Given the description of an element on the screen output the (x, y) to click on. 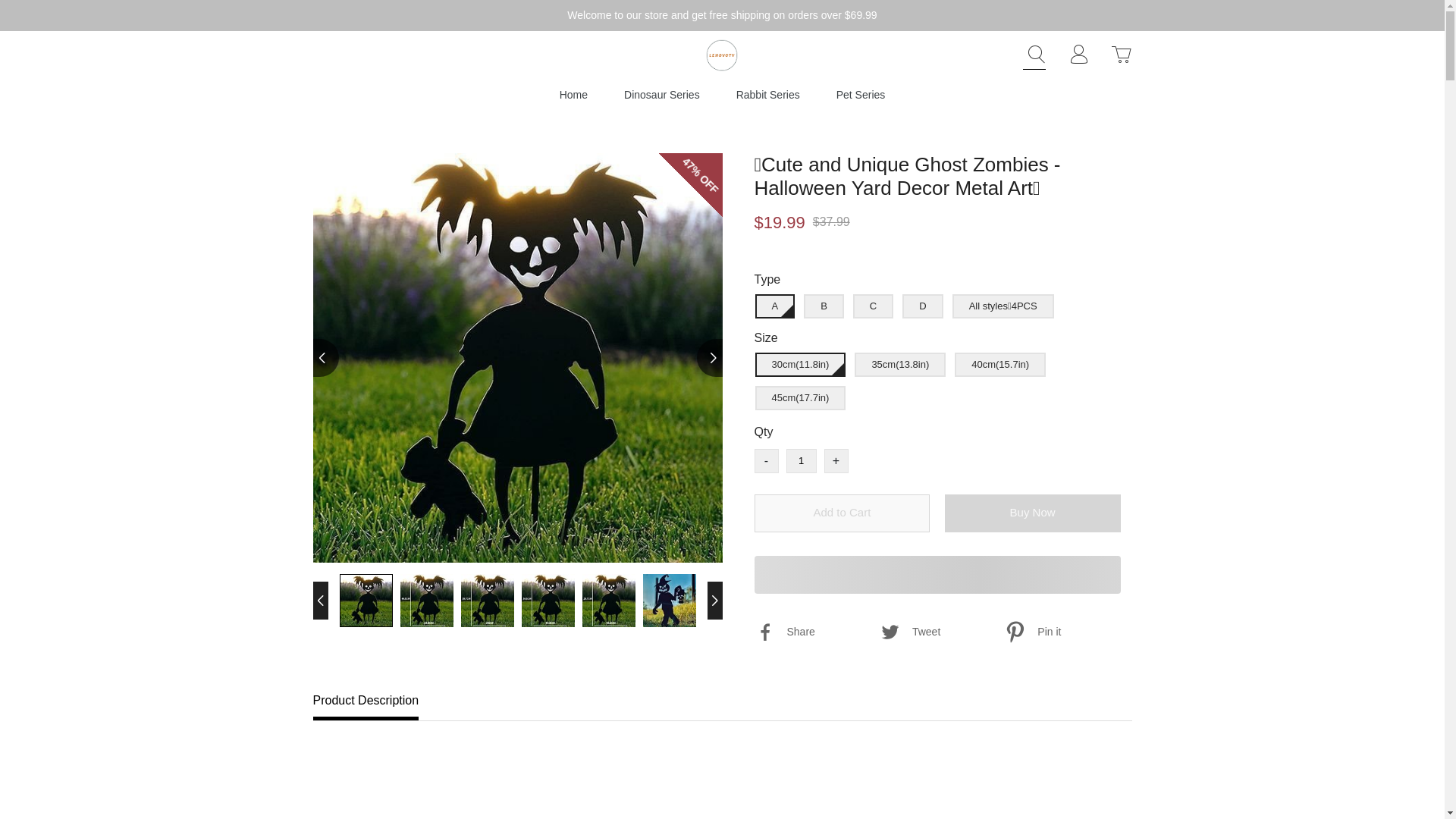
Tweet (940, 632)
- (765, 460)
Pet Series (860, 94)
Add to Cart (842, 513)
1 (800, 460)
Rabbit Series (767, 94)
Home (573, 94)
Dinosaur Series (662, 94)
Pin it (1065, 632)
Share (815, 632)
Buy Now (1032, 513)
